Given the description of an element on the screen output the (x, y) to click on. 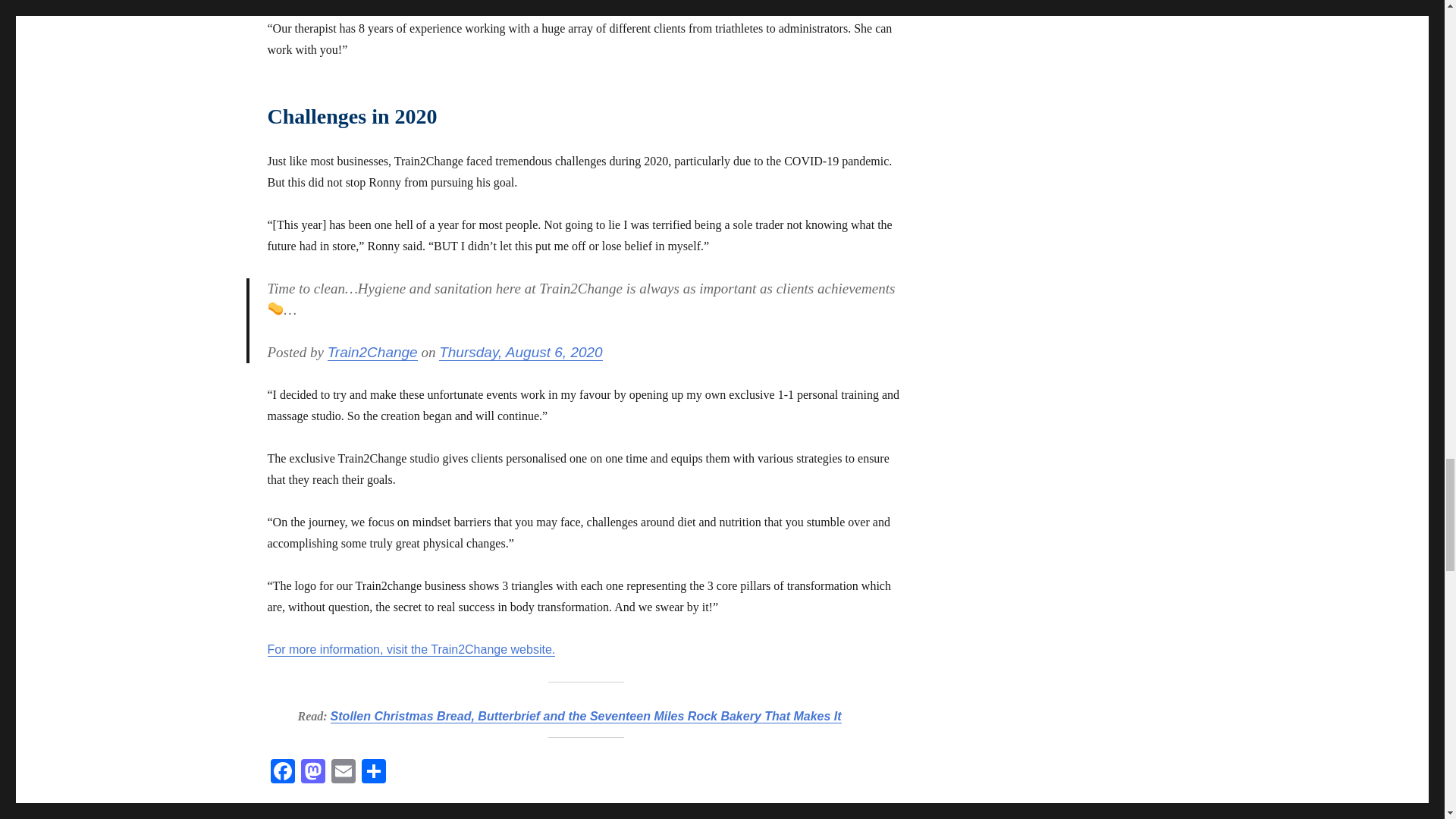
Mastodon (312, 773)
Email (342, 773)
Facebook (281, 773)
Facebook (281, 773)
Share (373, 773)
Train2Change (372, 351)
For more information, visit the Train2Change website. (410, 649)
Thursday, August 6, 2020 (520, 351)
Email (342, 773)
Mastodon (312, 773)
